Given the description of an element on the screen output the (x, y) to click on. 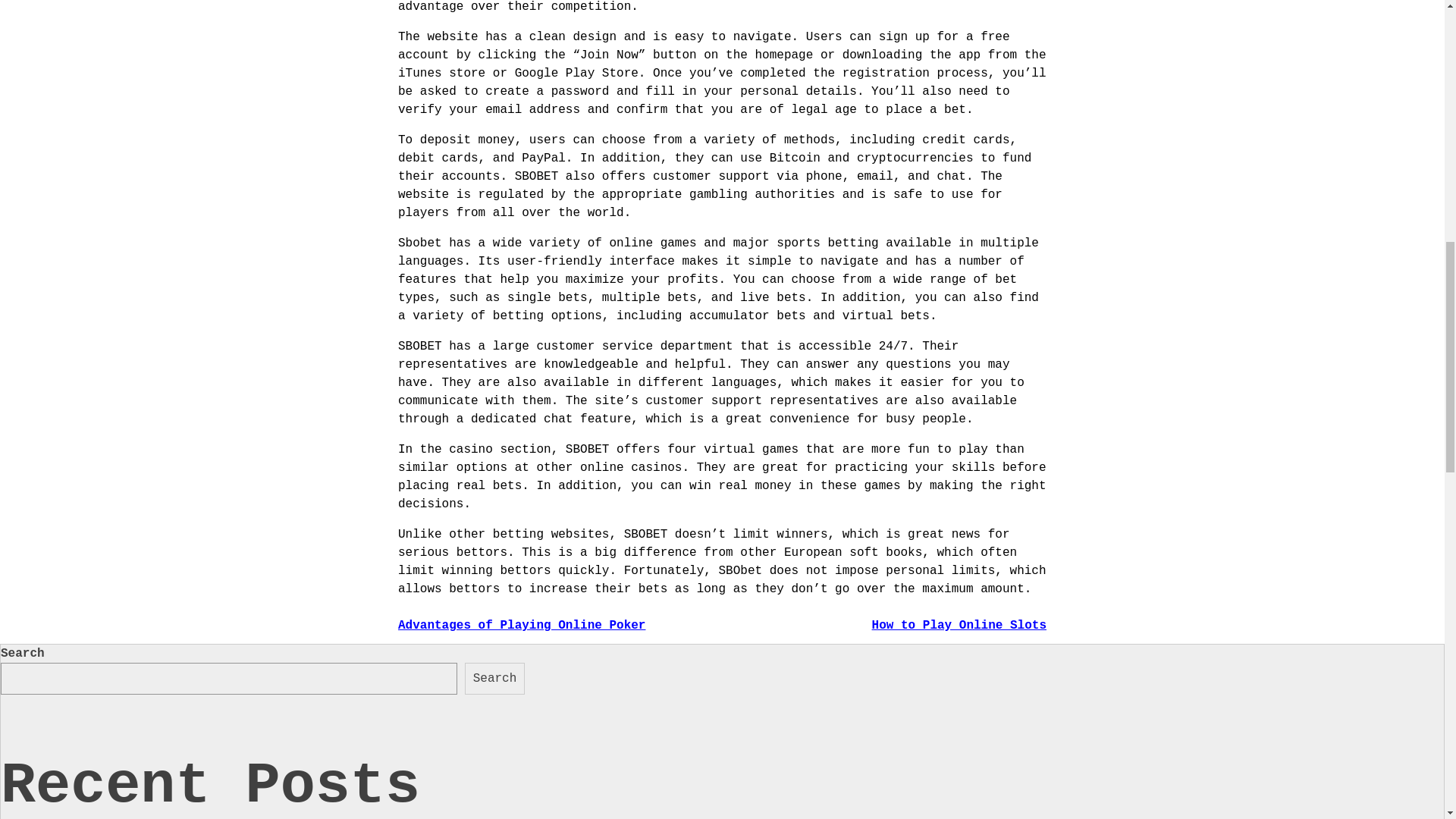
Search (494, 678)
How to Play Online Slots (959, 625)
Advantages of Playing Online Poker (521, 625)
